Given the description of an element on the screen output the (x, y) to click on. 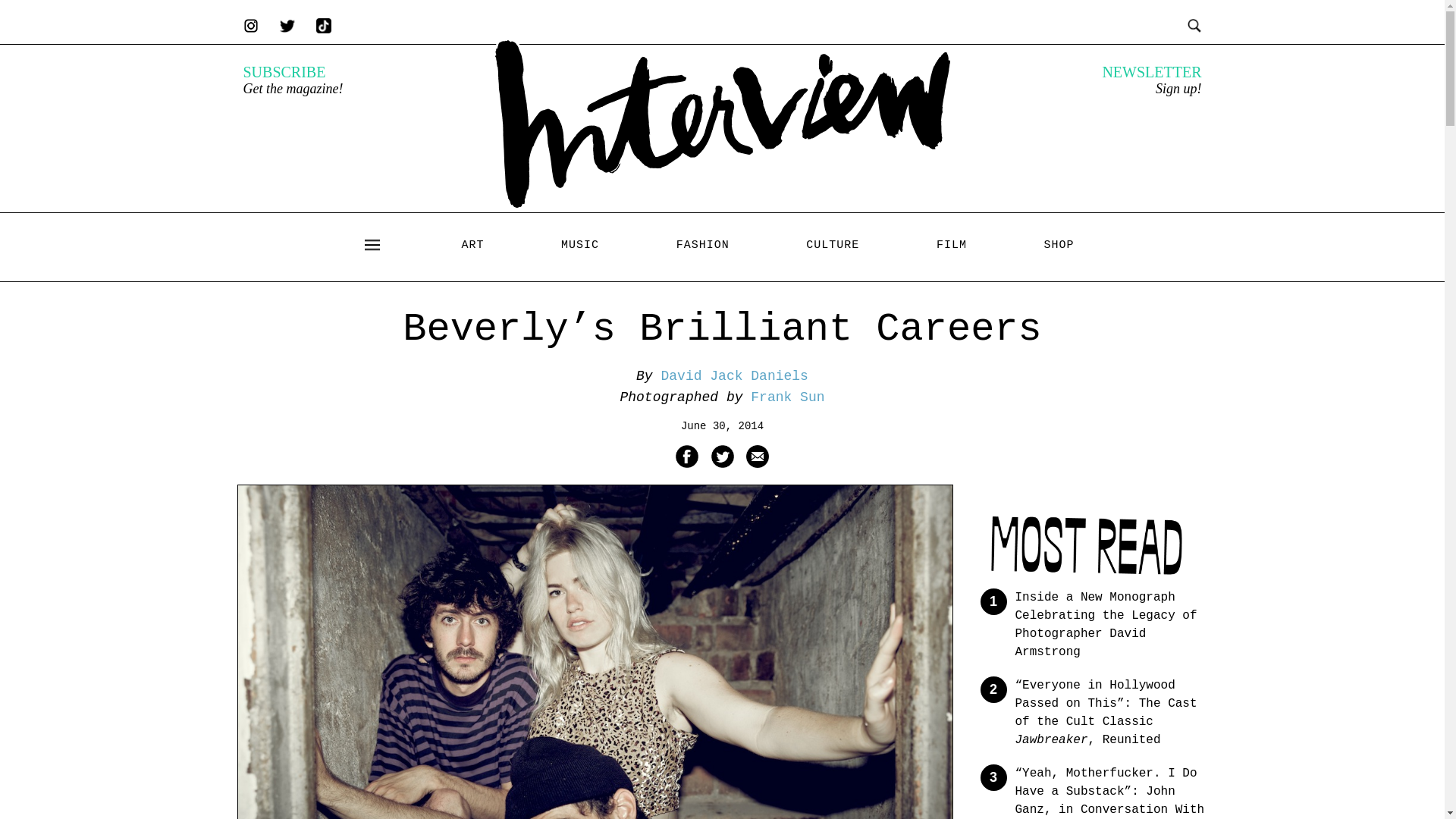
NEWSLETTER (1151, 71)
Frank Sun (787, 396)
David Jack Daniels (734, 376)
Posts by David Jack Daniels (734, 376)
SHOP (1058, 245)
CULTURE (832, 245)
SUBSCRIBE (283, 71)
ART (472, 245)
FASHION (703, 245)
FILM (951, 245)
MUSIC (579, 245)
